Given the description of an element on the screen output the (x, y) to click on. 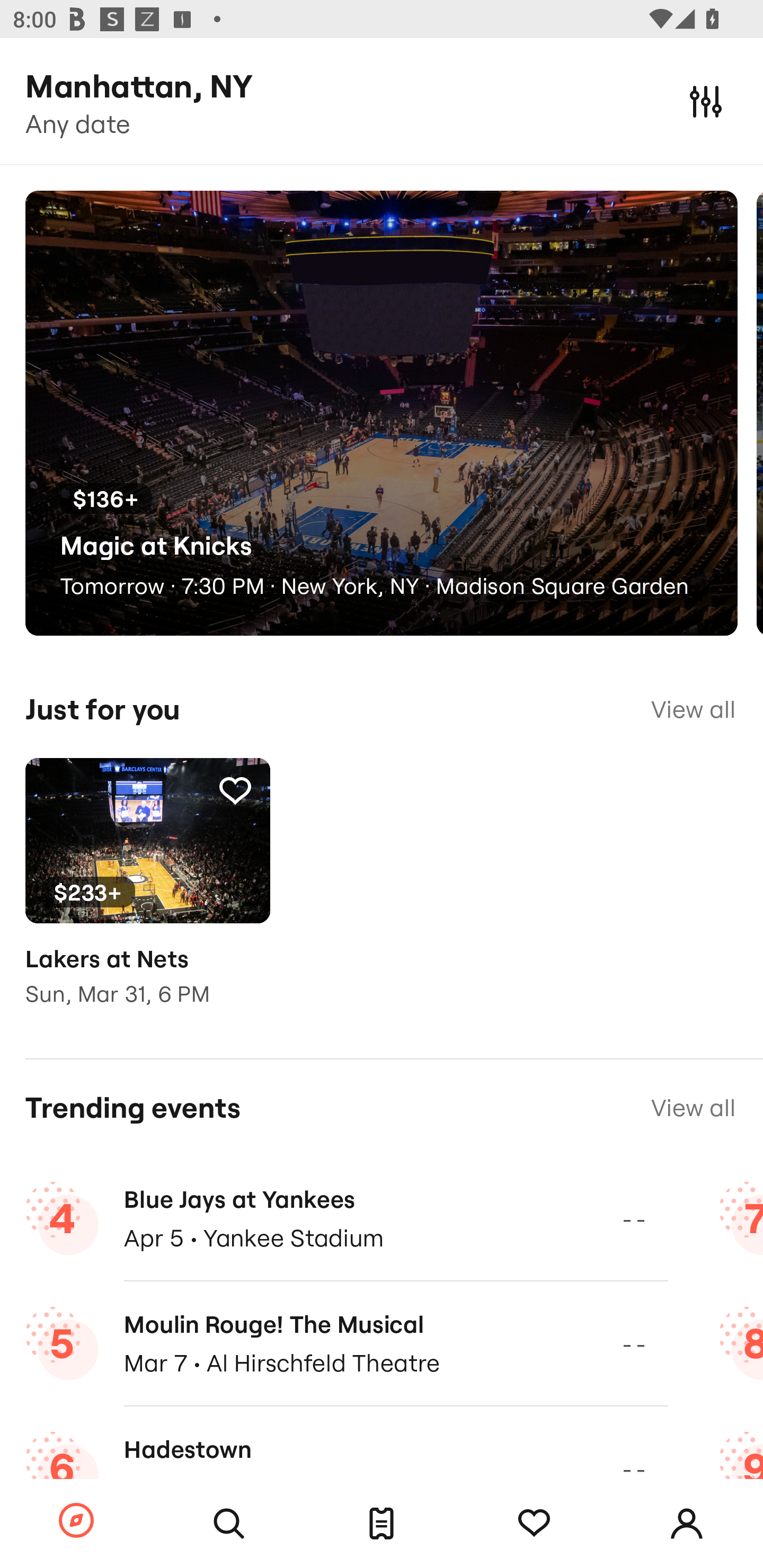
Close (705, 100)
View all (693, 709)
Tracking $233+ Lakers at Nets Sun, Mar 31, 6 PM (147, 895)
Tracking (234, 790)
View all (693, 1108)
Browse (76, 1521)
Search (228, 1523)
Tickets (381, 1523)
Tracking (533, 1523)
Account (686, 1523)
